Given the description of an element on the screen output the (x, y) to click on. 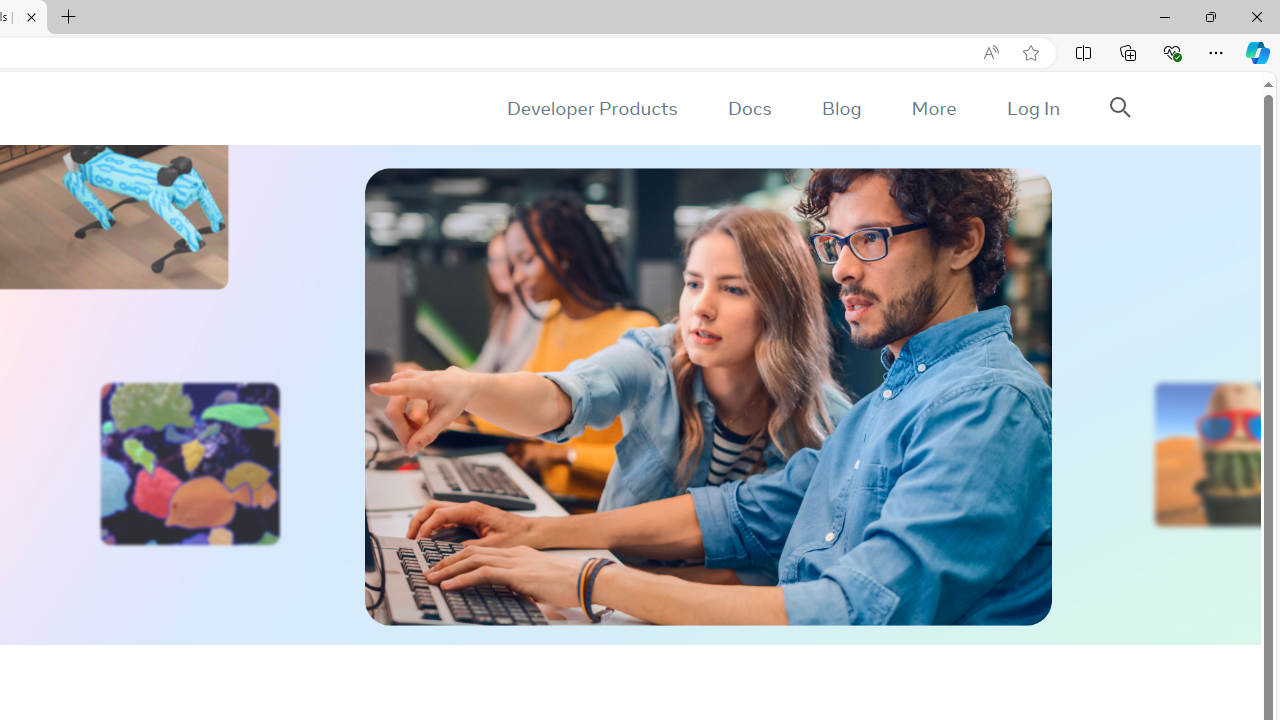
Blog (841, 108)
Blog (841, 108)
More (933, 108)
